Given the description of an element on the screen output the (x, y) to click on. 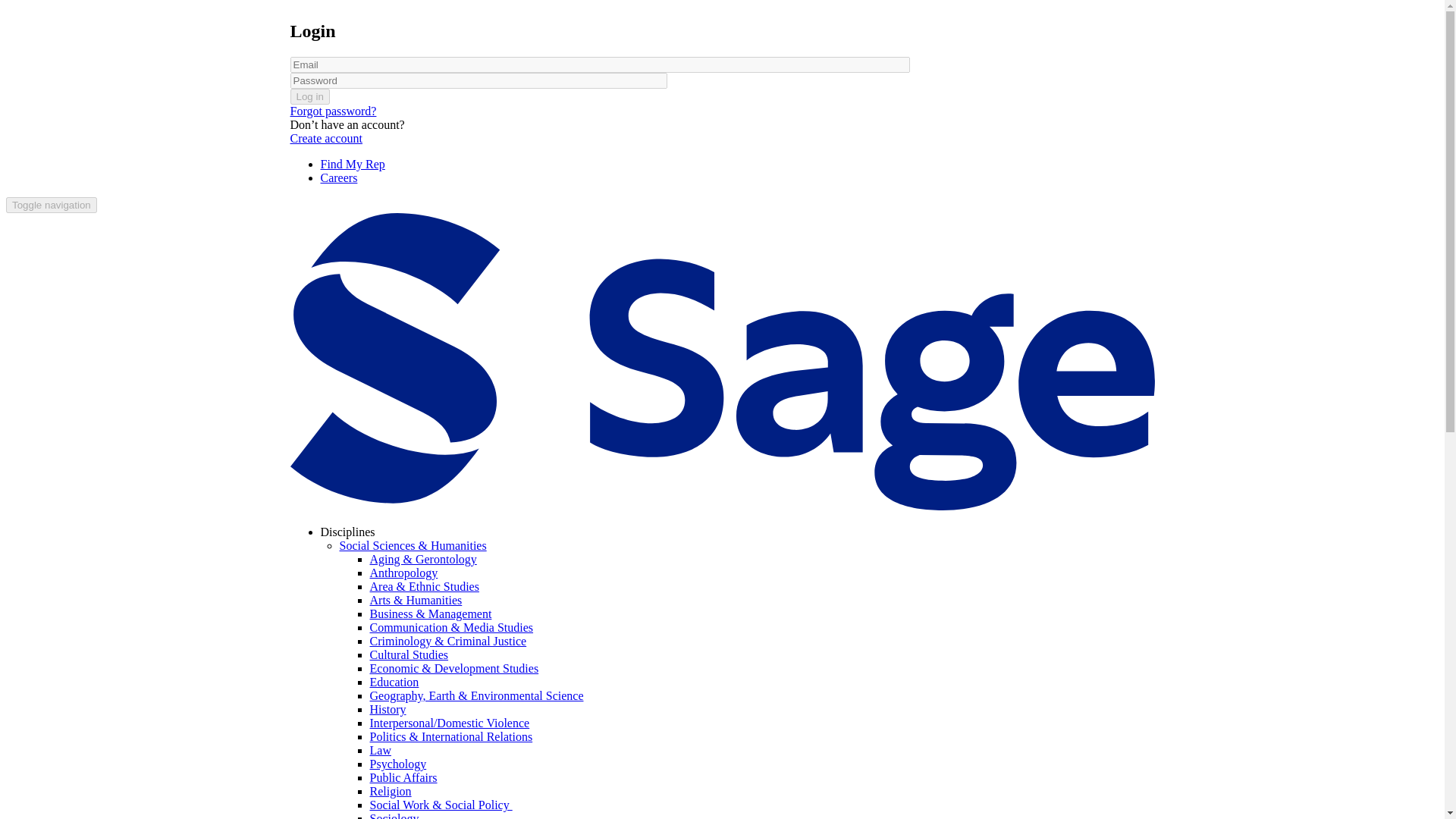
Law (380, 749)
Careers (338, 177)
Create account (325, 137)
Find My Rep (352, 164)
Sage: User Logout (339, 191)
History (387, 708)
Sage: User login (336, 191)
Cultural Studies (408, 654)
Education (394, 681)
Sociology (394, 815)
Toggle navigation (51, 204)
Forgot password? (332, 110)
Anthropology (403, 572)
Disciplines (347, 531)
